Given the description of an element on the screen output the (x, y) to click on. 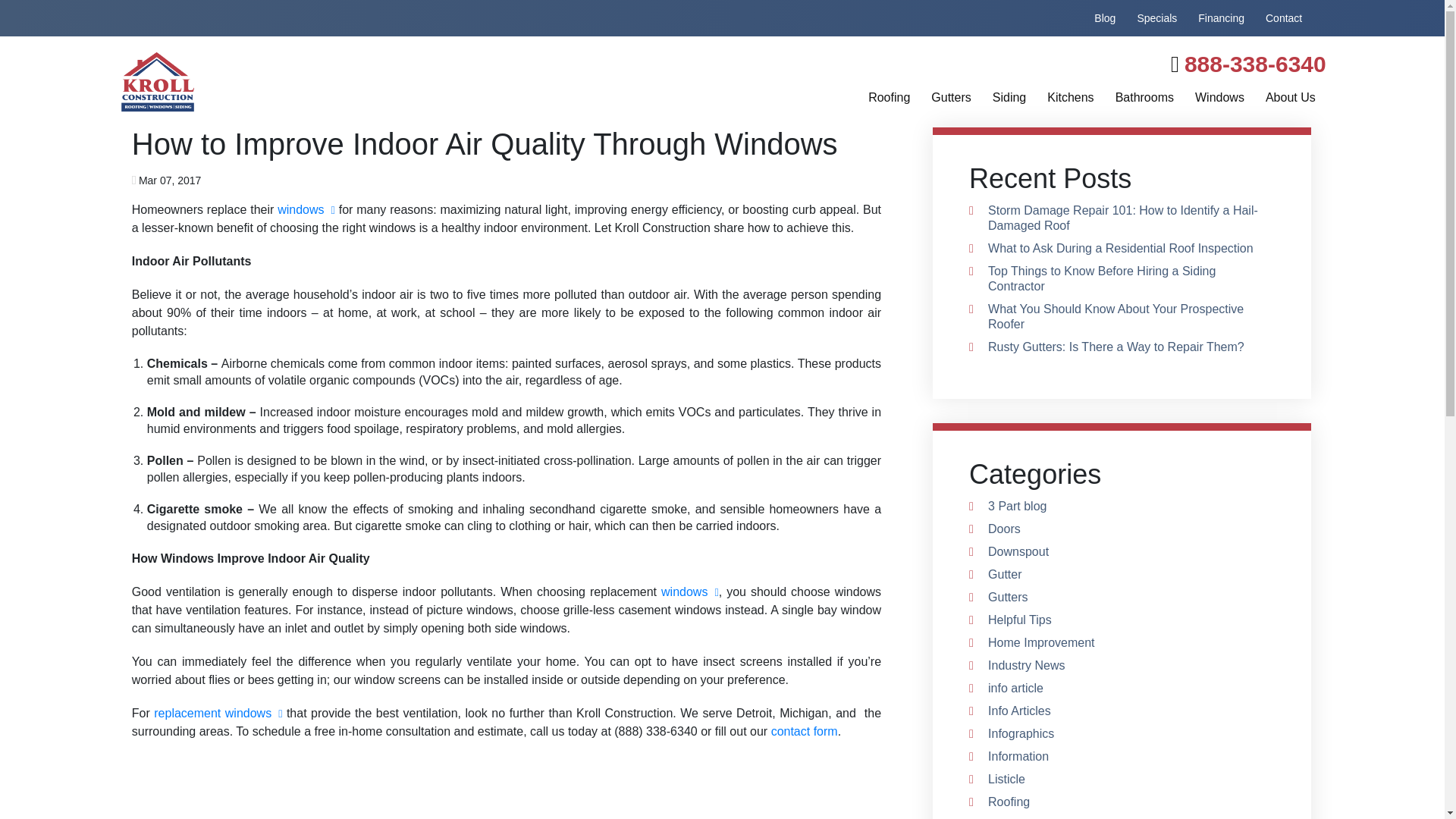
Kroll Construction (319, 81)
